Given the description of an element on the screen output the (x, y) to click on. 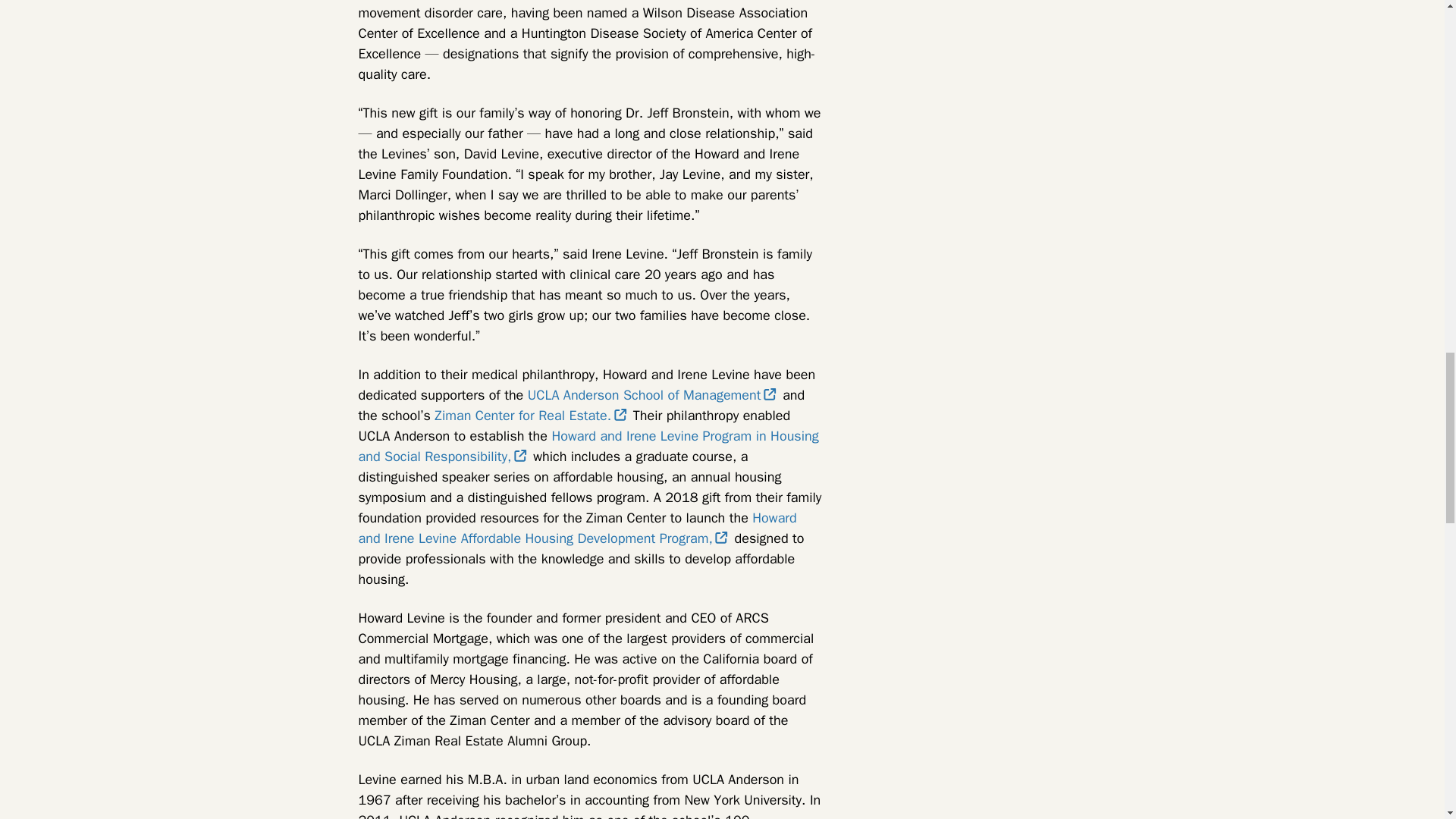
Link is external (721, 537)
Link is external (769, 394)
Link is external (520, 455)
Link is external (620, 414)
